Given the description of an element on the screen output the (x, y) to click on. 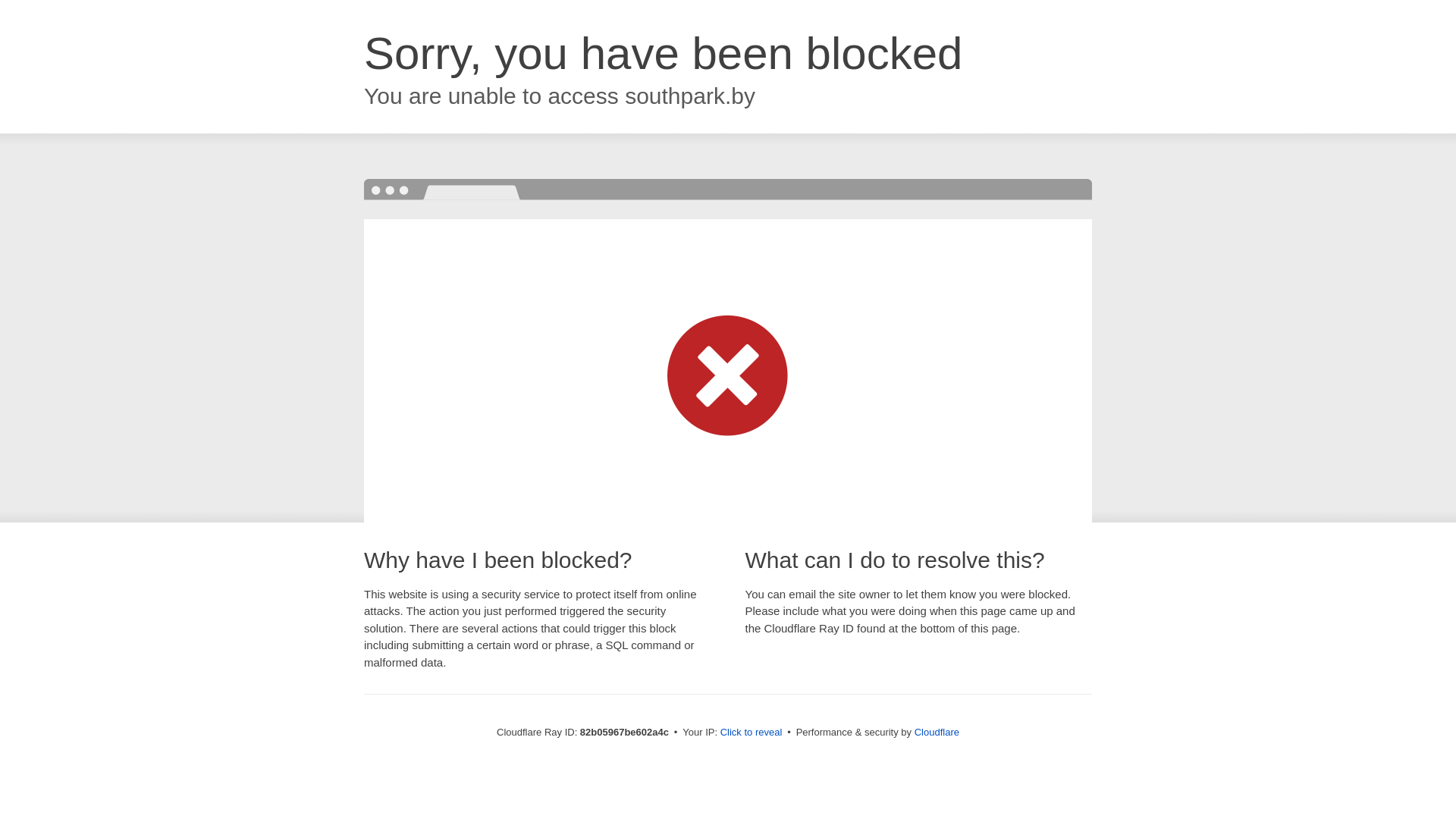
Cloudflare Element type: text (936, 731)
Click to reveal Element type: text (751, 732)
